Given the description of an element on the screen output the (x, y) to click on. 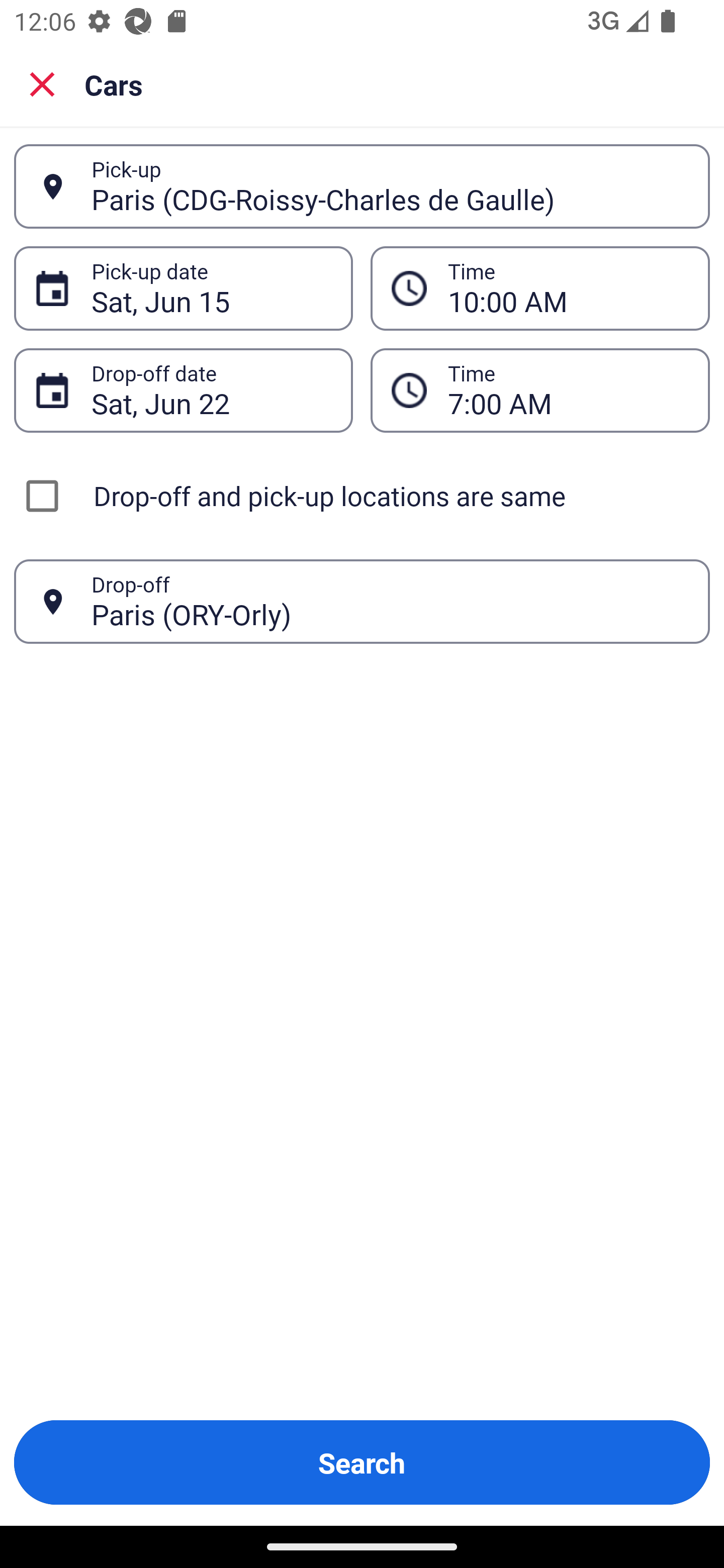
Close search screen (42, 84)
Paris (CDG-Roissy-Charles de Gaulle) (389, 186)
Sat, Jun 15 (211, 288)
10:00 AM (568, 288)
Sat, Jun 22 (211, 390)
7:00 AM (568, 390)
Drop-off and pick-up locations are same (361, 495)
Paris (ORY-Orly) (389, 601)
Search Button Search (361, 1462)
